Given the description of an element on the screen output the (x, y) to click on. 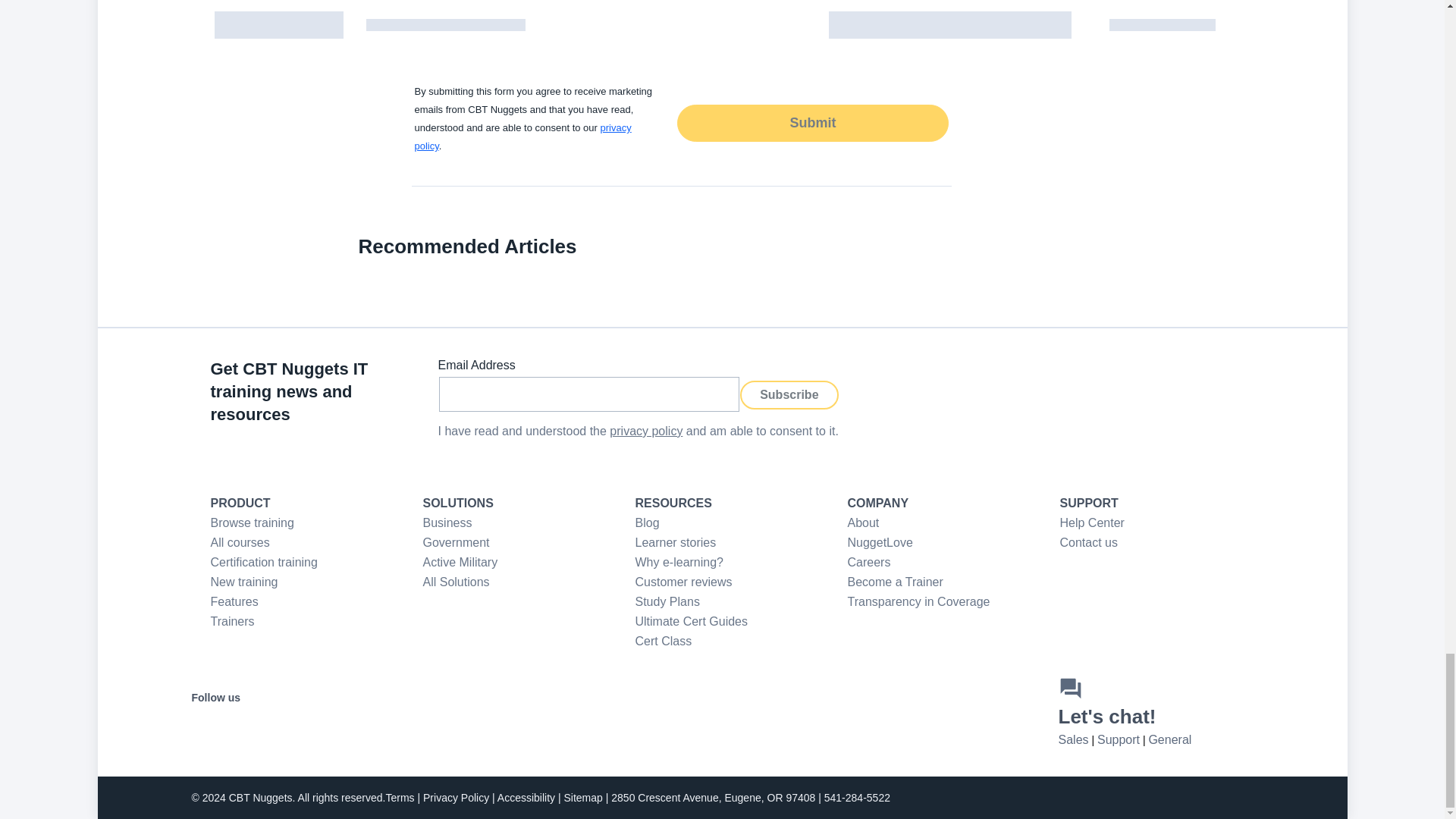
Active Military (460, 562)
Business (447, 522)
New training (244, 581)
Subscribe (788, 394)
Browse training (252, 522)
Submit (812, 122)
Certification training (264, 562)
Government (456, 542)
privacy policy (521, 136)
All Solutions (456, 581)
Trainers (232, 621)
privacy policy (646, 431)
All courses (240, 542)
Features (235, 601)
